Given the description of an element on the screen output the (x, y) to click on. 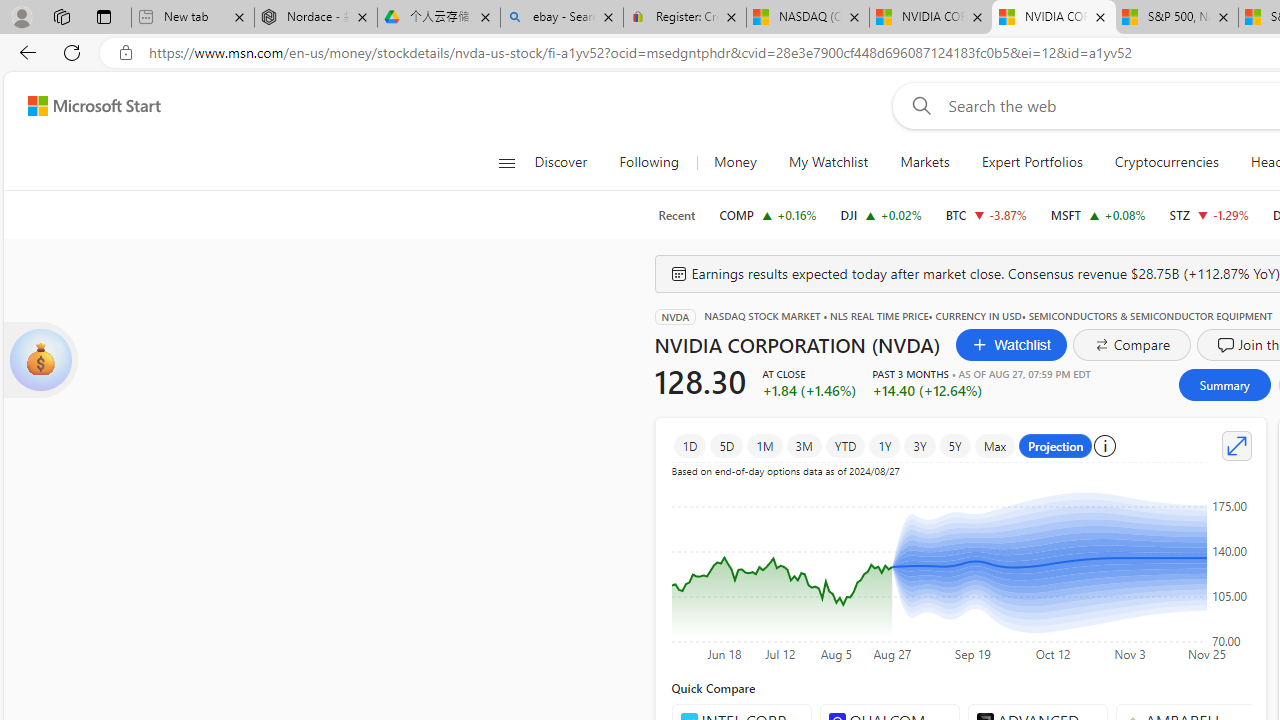
Expert Portfolios (1032, 162)
5Y (955, 445)
Markets (924, 162)
Skip to content (86, 105)
Register: Create a personal eBay account (684, 17)
1M (765, 445)
Class: button-glyph (505, 162)
Projection (1055, 445)
